Given the description of an element on the screen output the (x, y) to click on. 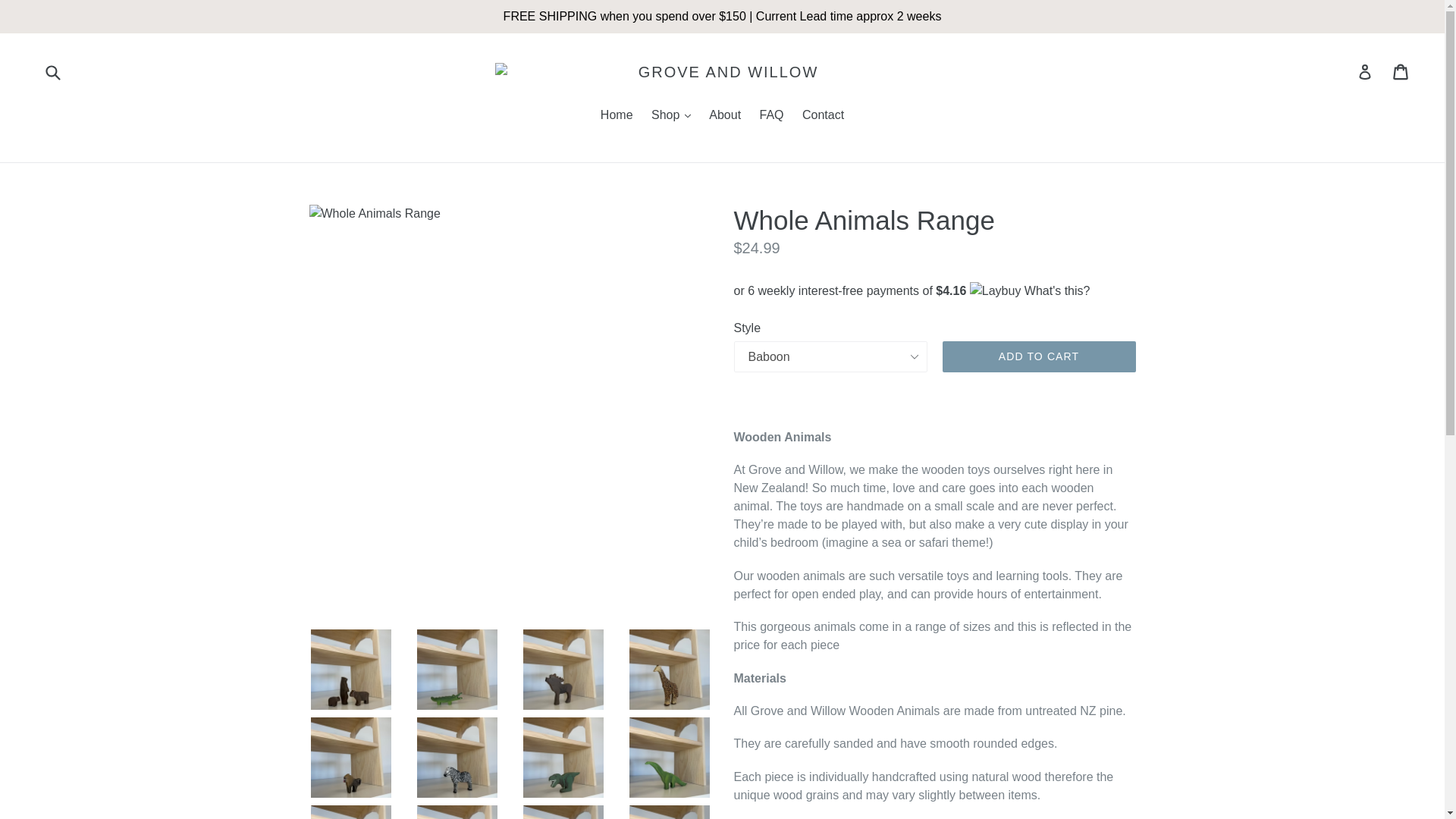
FAQ (772, 116)
About (724, 116)
Contact (822, 116)
Home (616, 116)
